Given the description of an element on the screen output the (x, y) to click on. 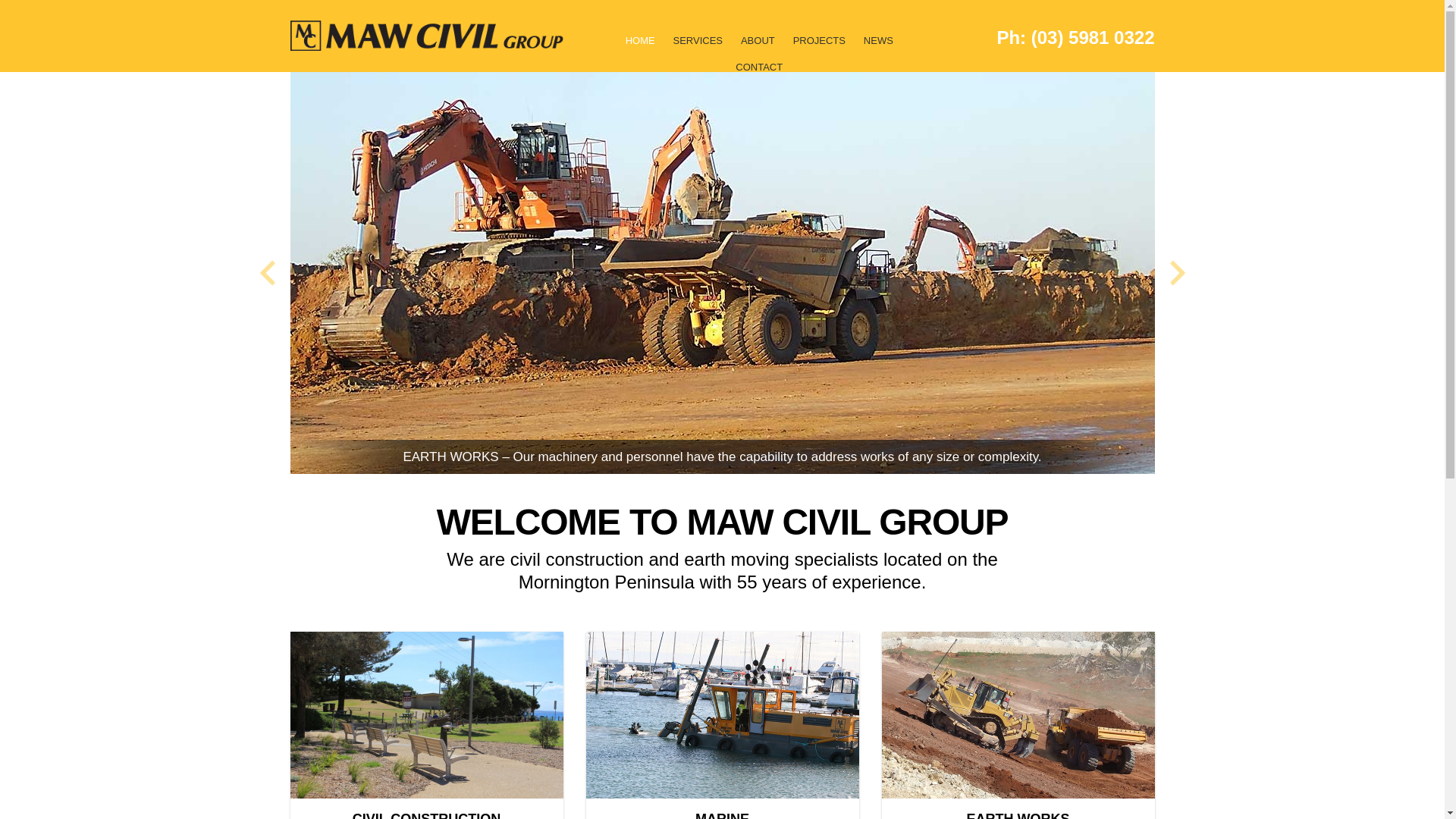
SERVICES Element type: text (698, 47)
NEWS Element type: text (878, 47)
HOME Element type: text (640, 47)
CONTACT Element type: text (759, 73)
ABOUT Element type: text (757, 47)
PROJECTS Element type: text (819, 47)
